Given the description of an element on the screen output the (x, y) to click on. 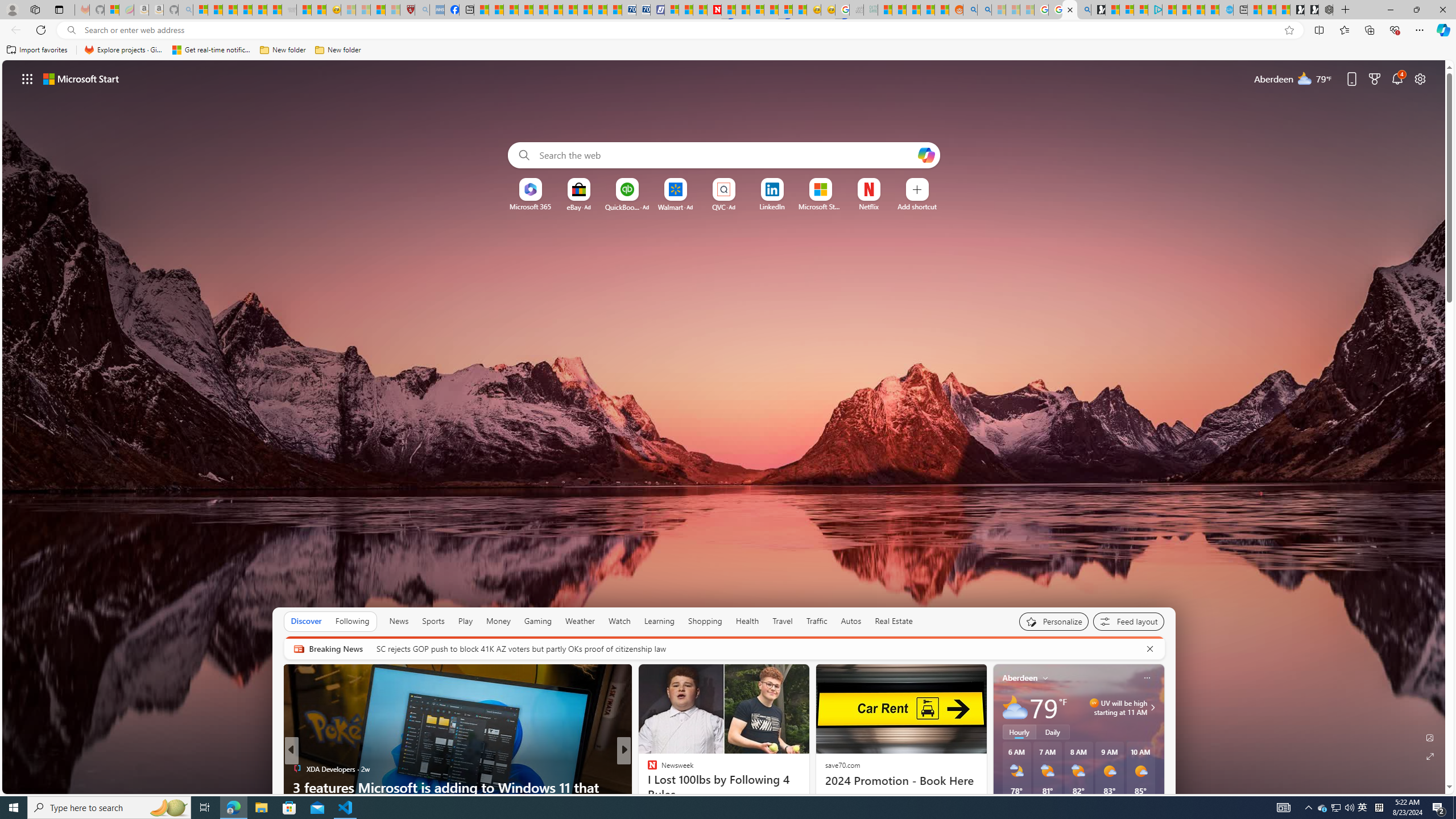
Sports (432, 621)
Learning (658, 621)
The Telegraph (647, 786)
Real Estate (893, 621)
